Given the description of an element on the screen output the (x, y) to click on. 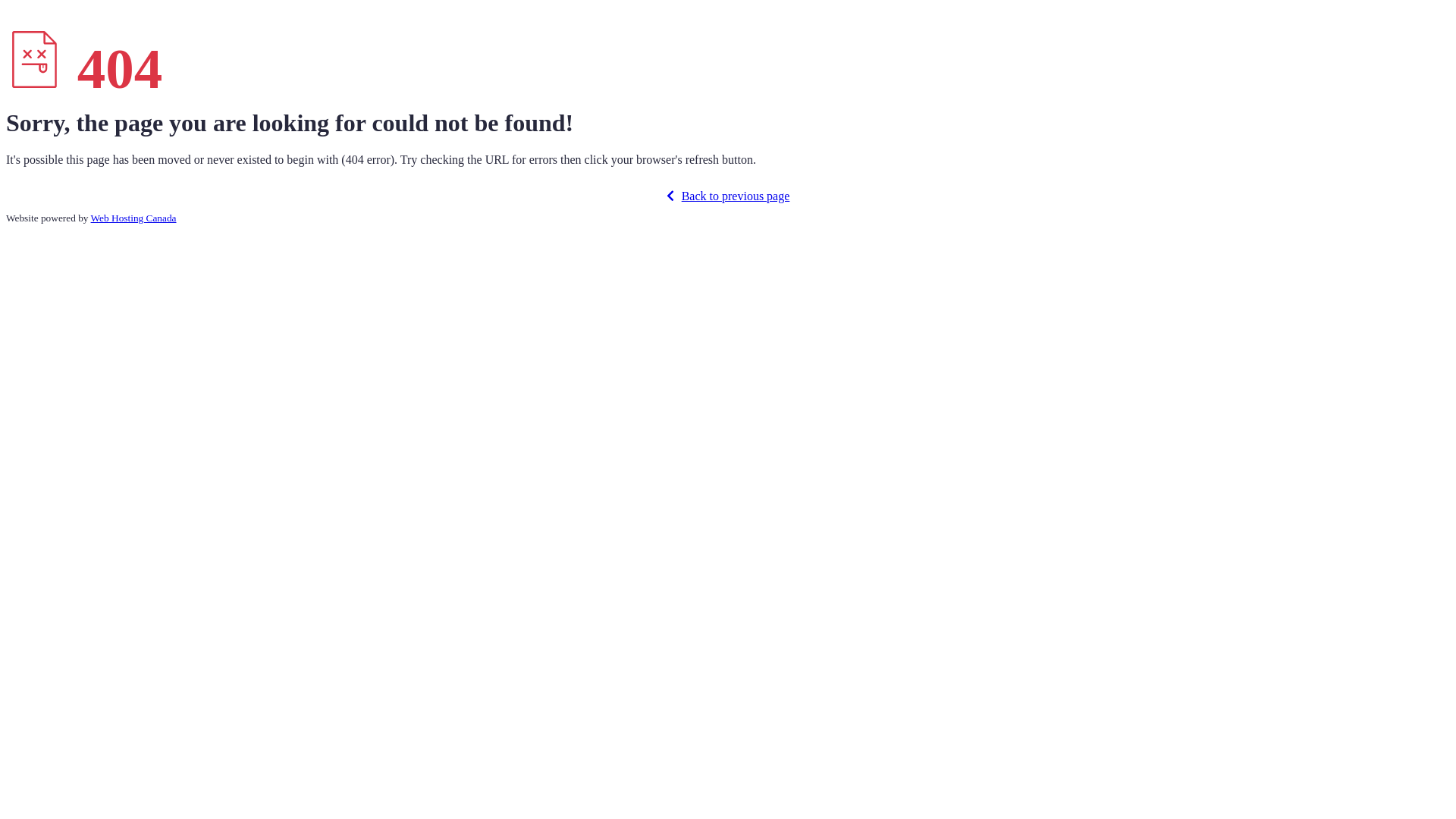
Back to previous page Element type: text (728, 196)
Web Hosting Canada Element type: text (133, 217)
